Given the description of an element on the screen output the (x, y) to click on. 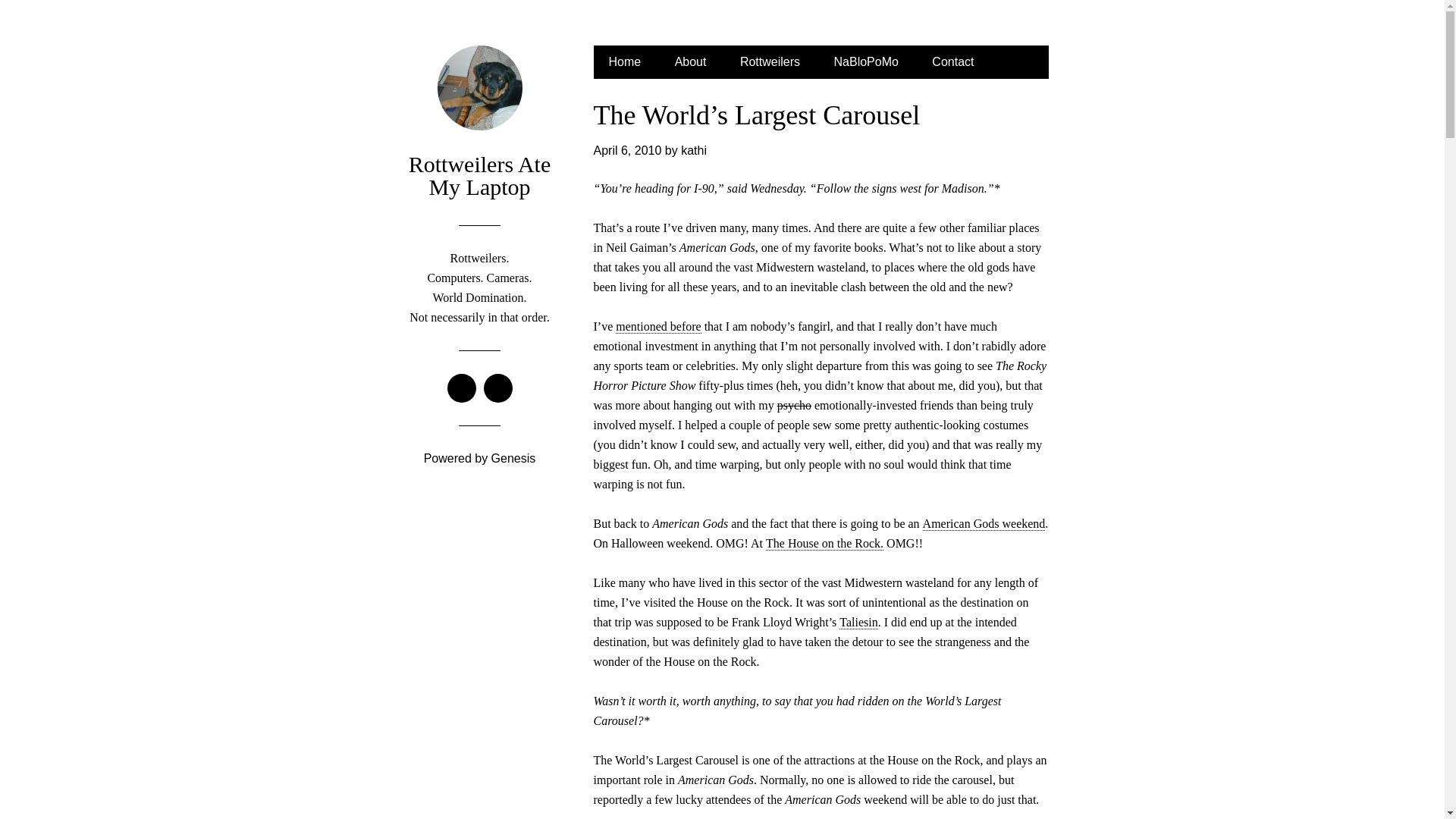
Taliesin (858, 622)
Rottweilers Ate My Laptop (479, 175)
Rottweilers (770, 61)
American Gods weekend (984, 523)
Contact (952, 61)
About (690, 61)
Genesis (513, 458)
kathi (693, 150)
NaBloPoMo (866, 61)
The House on the Rock. (824, 543)
mentioned before (657, 326)
Home (624, 61)
